Given the description of an element on the screen output the (x, y) to click on. 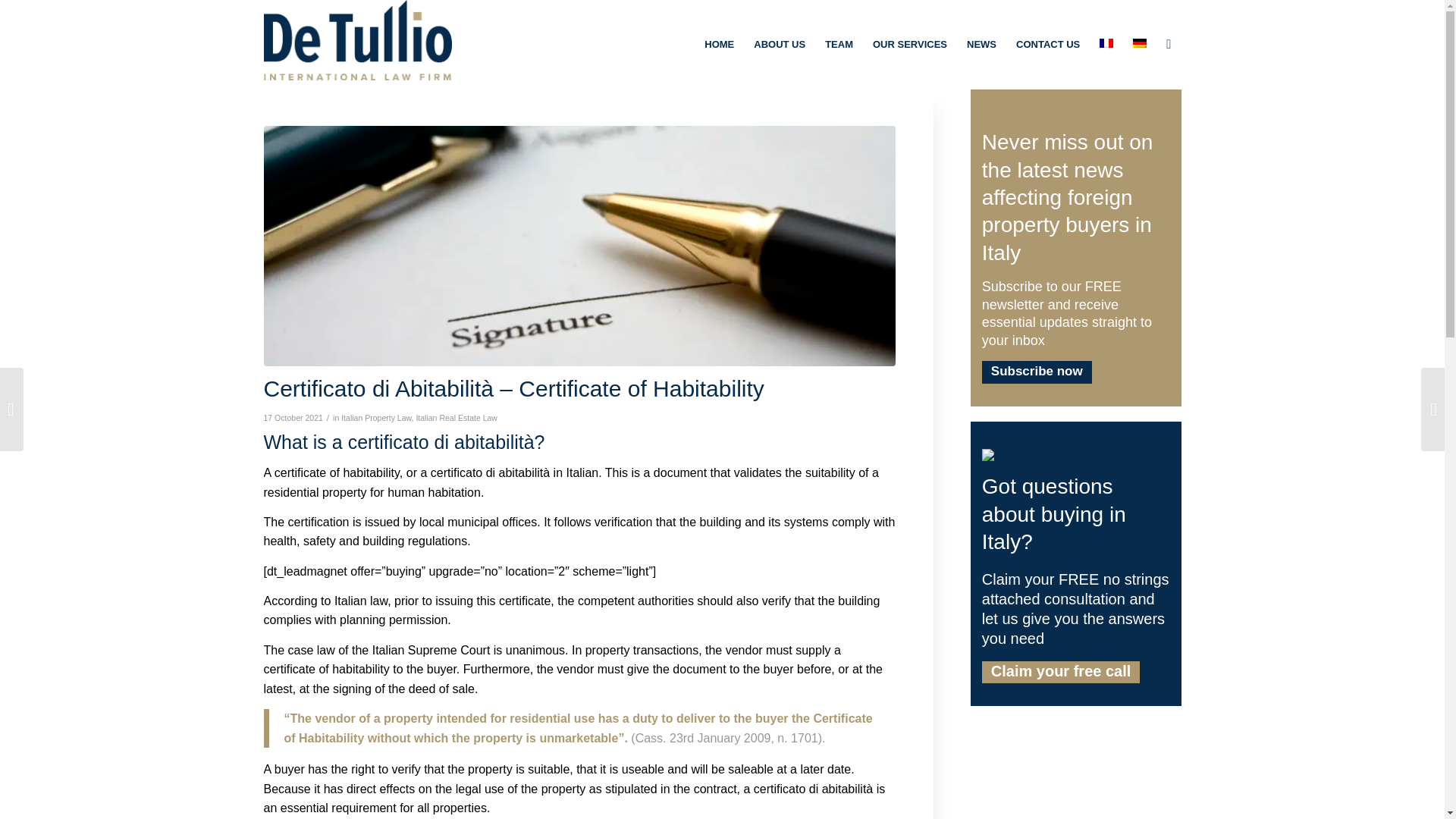
De Tullio Header Logo (357, 40)
OUR SERVICES (909, 44)
Italian Real Estate Law (455, 417)
Italian Property Law (375, 417)
CONTACT US (1047, 44)
